Given the description of an element on the screen output the (x, y) to click on. 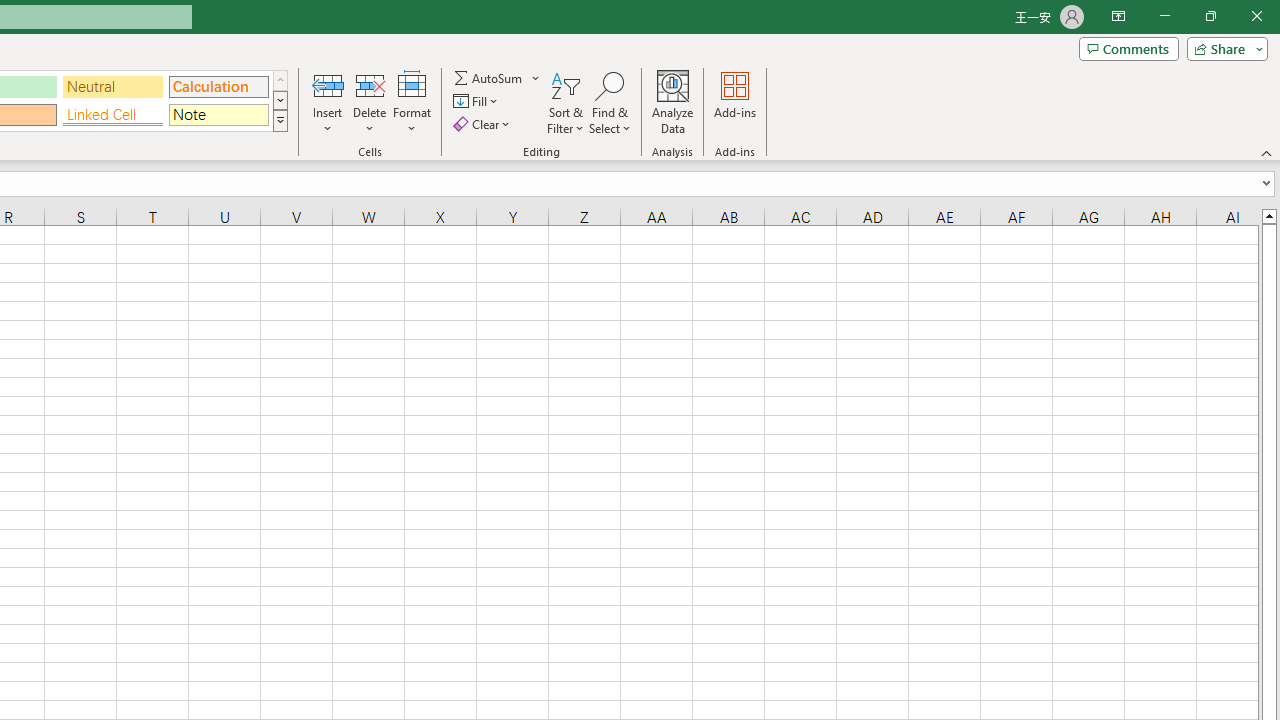
Insert Cells (328, 84)
Note (218, 114)
Row up (280, 79)
Linked Cell (113, 114)
Row Down (280, 100)
Close (1256, 16)
Ribbon Display Options (1118, 16)
Minimize (1164, 16)
Comments (1128, 48)
Find & Select (610, 102)
Neutral (113, 86)
Fill (477, 101)
Line up (1268, 215)
Sum (489, 78)
